Given the description of an element on the screen output the (x, y) to click on. 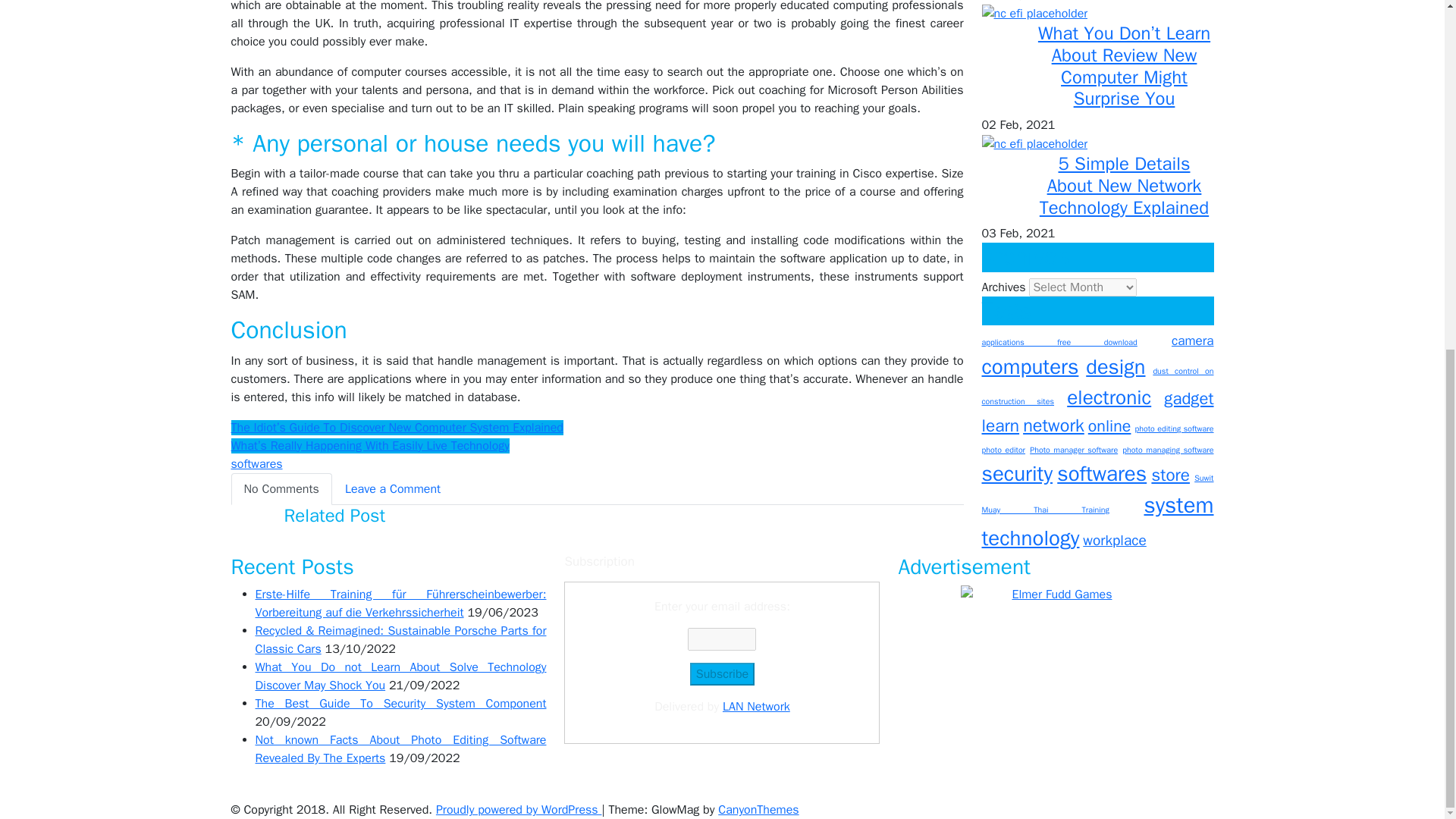
Elmer Fudd Games (1055, 679)
Leave a Comment (391, 489)
No Comments (280, 489)
5 Simple Details About New Network Technology Explained (1034, 144)
Subscribe (722, 673)
softwares (256, 463)
